Given the description of an element on the screen output the (x, y) to click on. 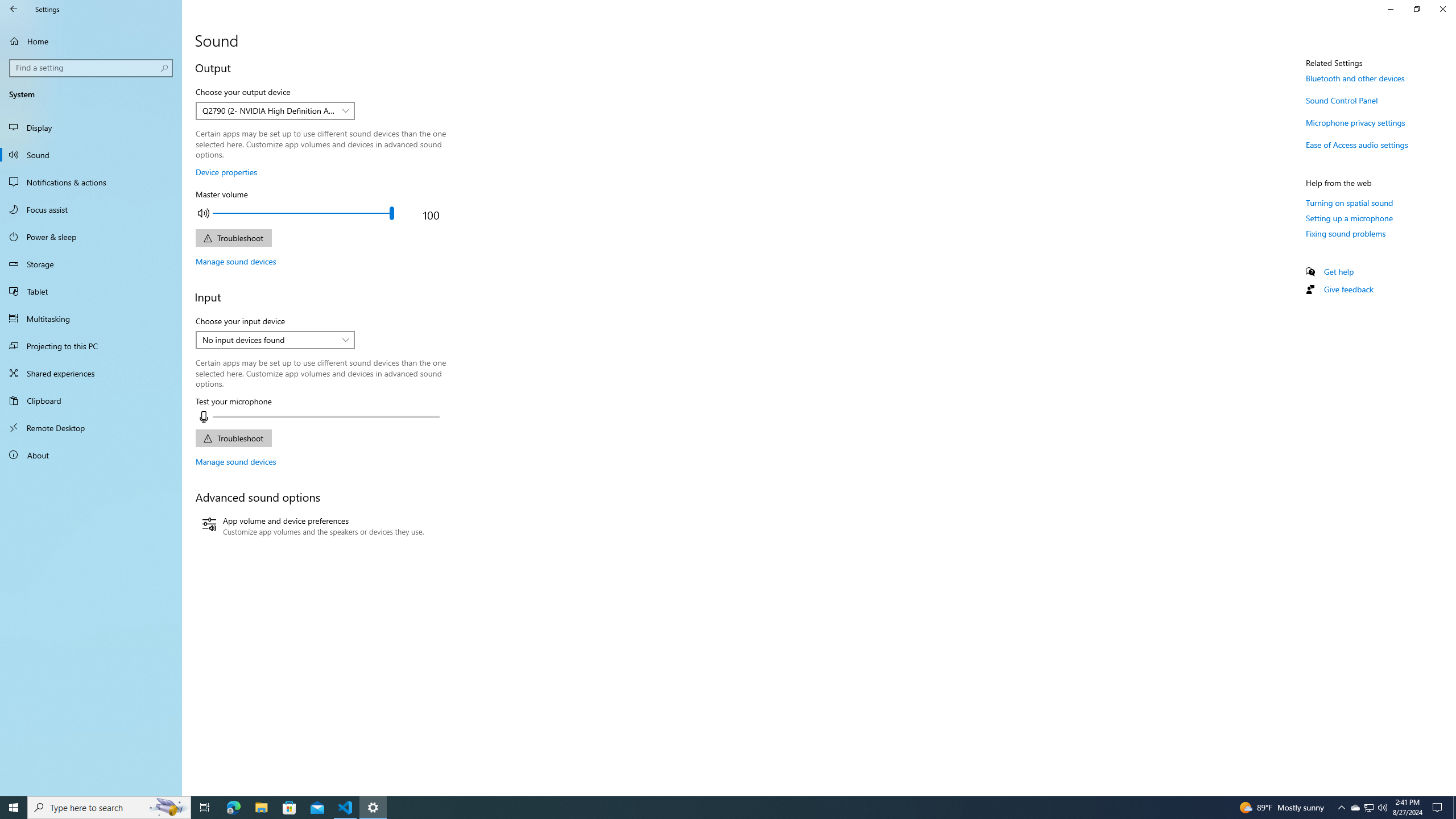
Shared experiences (91, 372)
Clipboard (91, 400)
Notifications & actions (91, 181)
Display (91, 126)
Setting up a microphone (1349, 217)
Adjust the master output volume (303, 212)
No input devices found (269, 339)
Fixing sound problems (1346, 233)
